Given the description of an element on the screen output the (x, y) to click on. 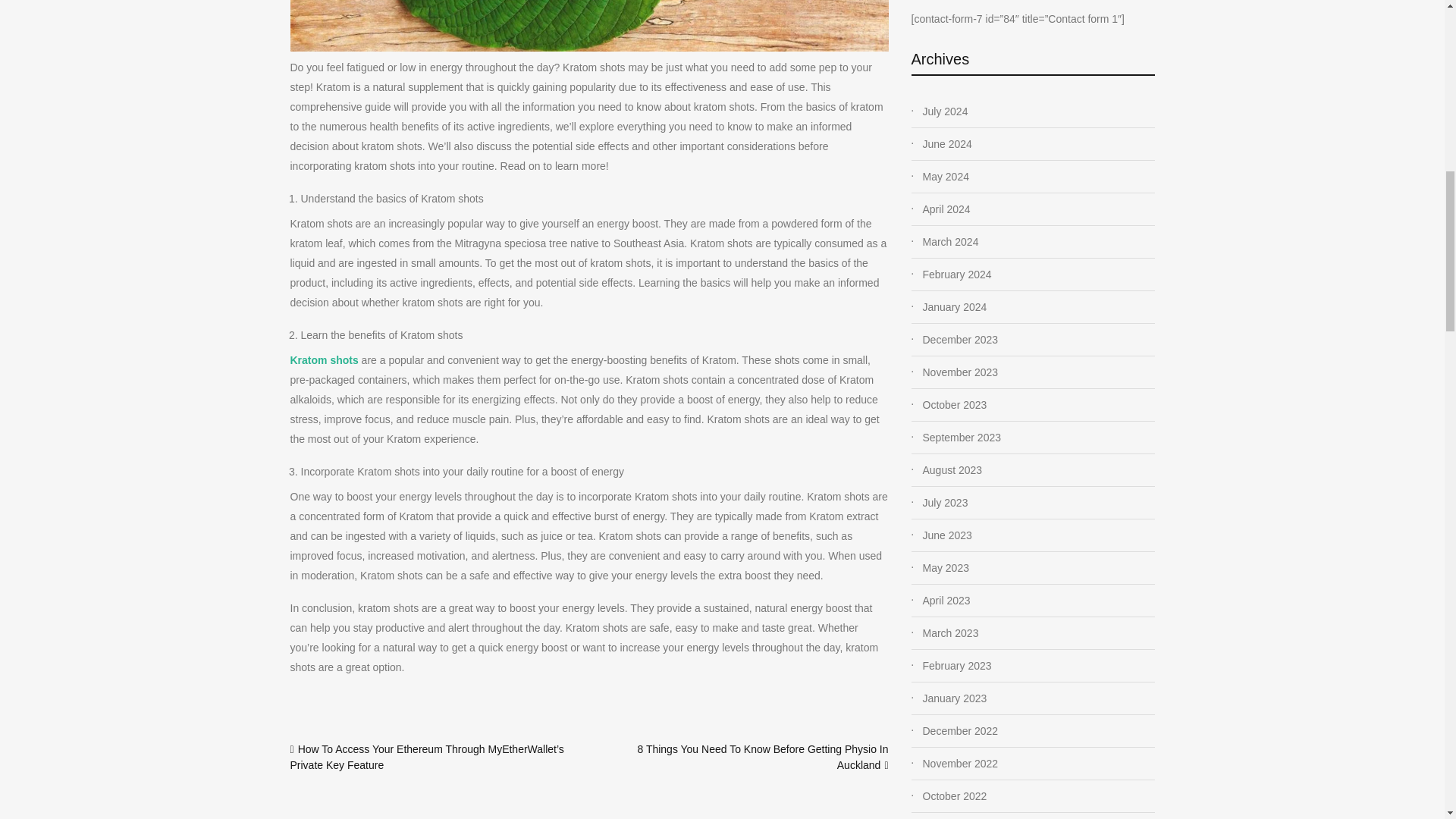
Kratom shots (323, 359)
8 Things You Need To Know Before Getting Physio In Auckland (762, 756)
